Given the description of an element on the screen output the (x, y) to click on. 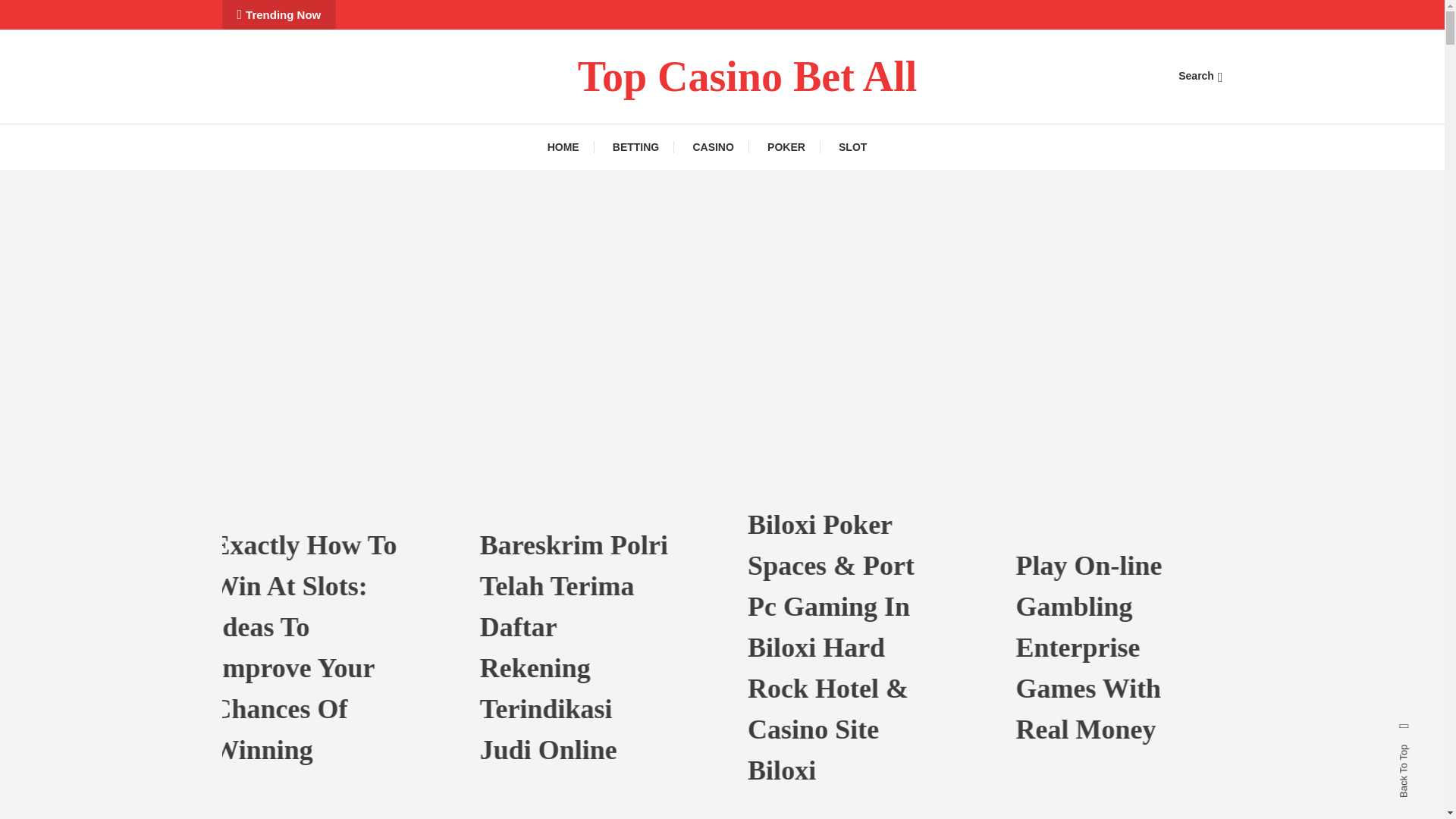
Top Casino Bet All (747, 76)
CASINO (712, 146)
Search (1200, 75)
POKER (786, 146)
Search (768, 434)
Play On-line Gambling Enterprise Games With Real Money (1180, 647)
SLOT (853, 146)
BETTING (635, 146)
HOME (570, 146)
